Given the description of an element on the screen output the (x, y) to click on. 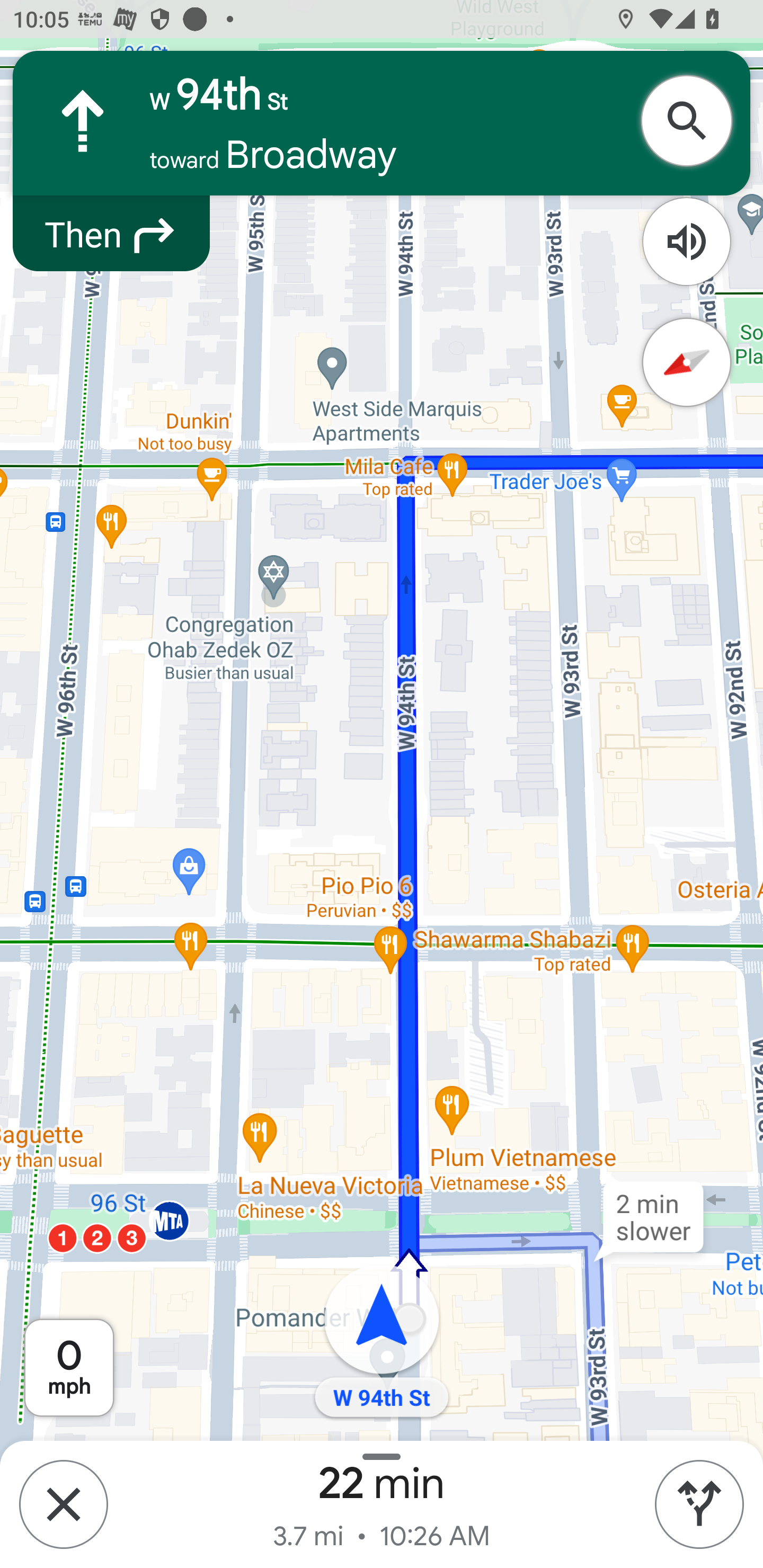
Search along route (692, 120)
Audio level selector: unmuted (686, 241)
Map bearing 118 degrees. (686, 362)
Current speed 0 miles per hour 0 mph (68, 1367)
Close navigation (63, 1504)
Route preview (699, 1504)
